Given the description of an element on the screen output the (x, y) to click on. 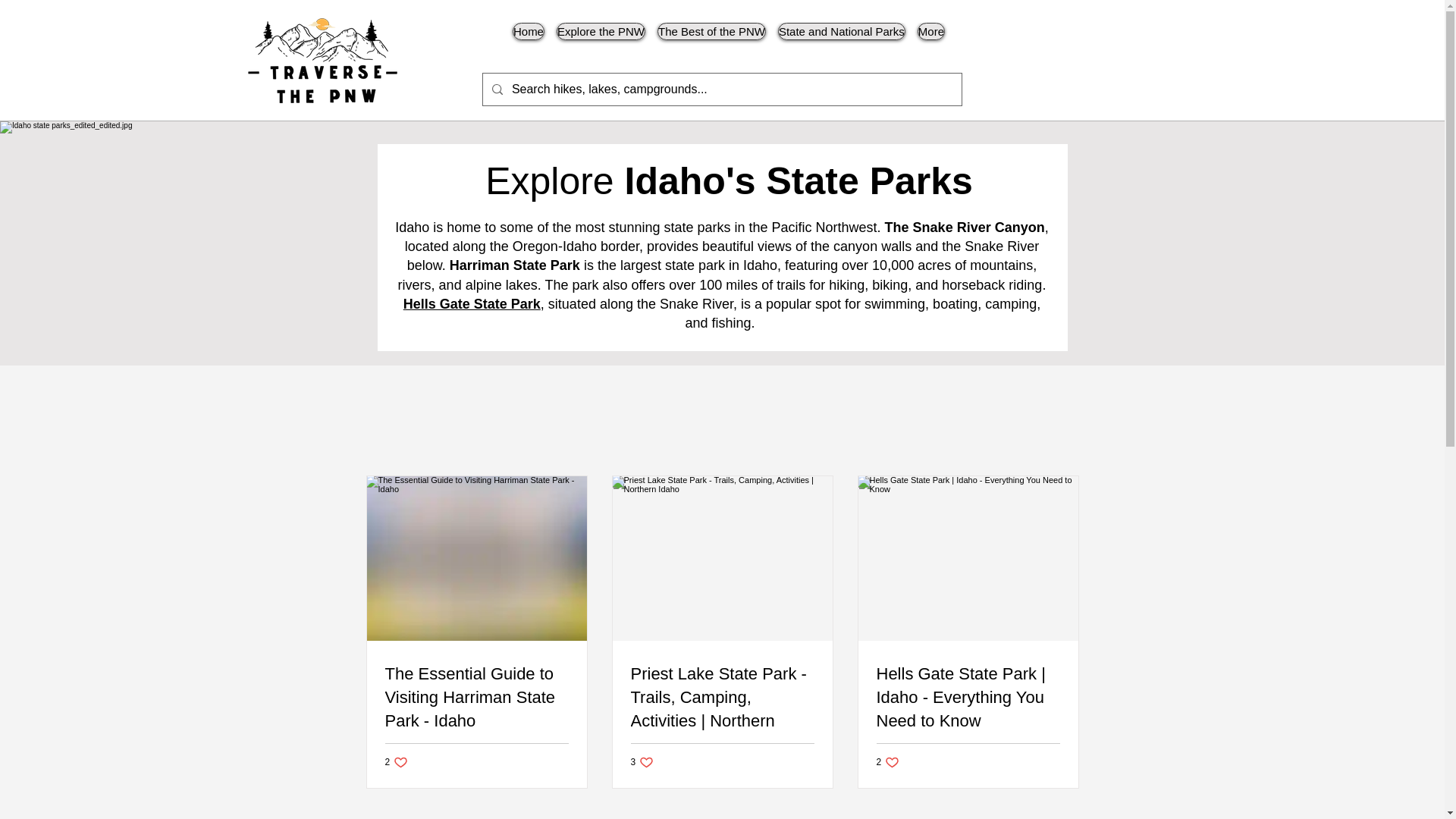
The Essential Guide to Visiting Harriman State Park - Idaho (887, 762)
Explore the PNW (477, 697)
Hells Gate State Park (600, 41)
State and National Parks (471, 304)
The Best of the PNW (841, 41)
